Given the description of an element on the screen output the (x, y) to click on. 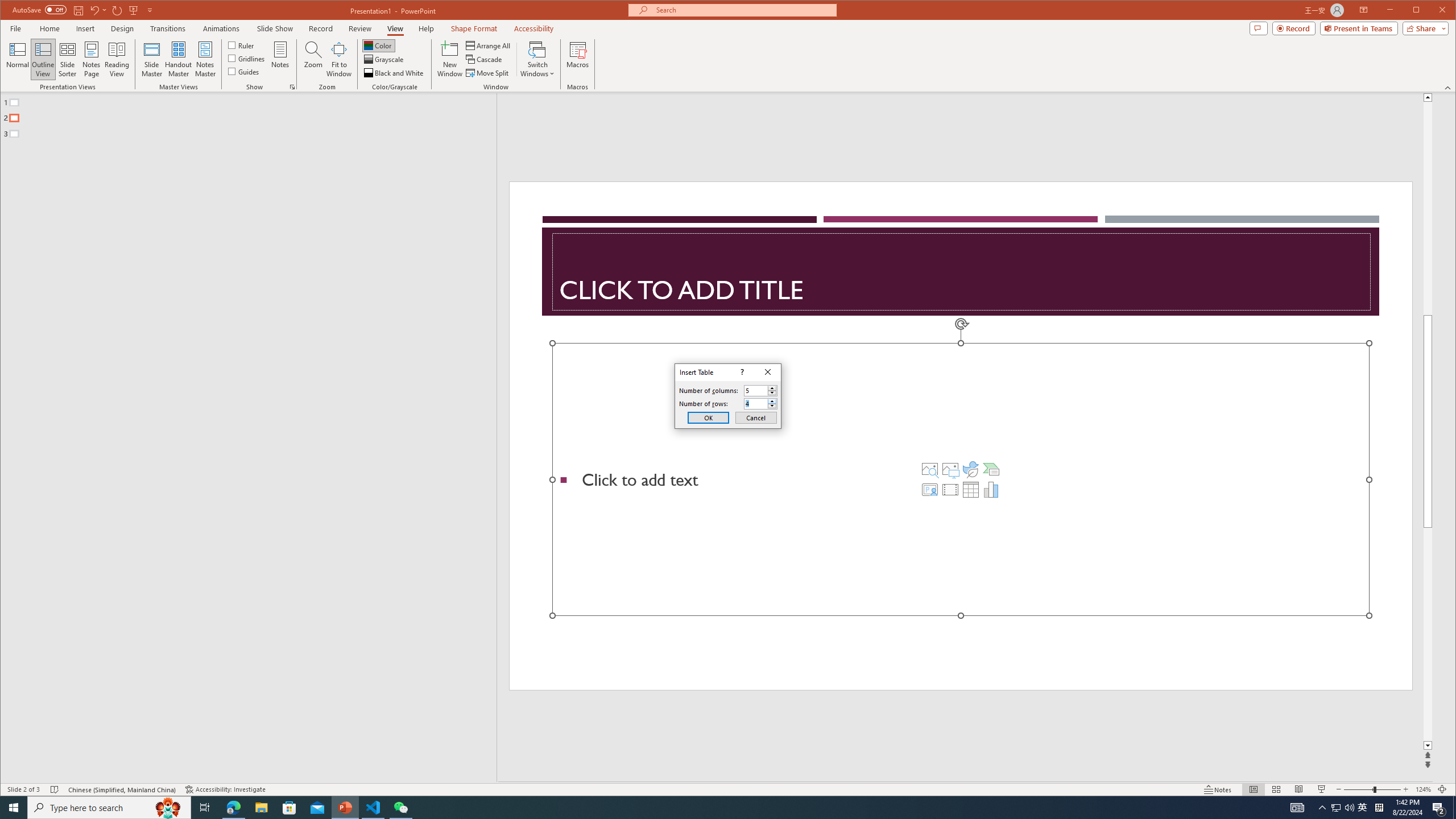
Handout Master (178, 59)
OK (708, 417)
Insert Cameo (929, 489)
Color (378, 45)
